Given the description of an element on the screen output the (x, y) to click on. 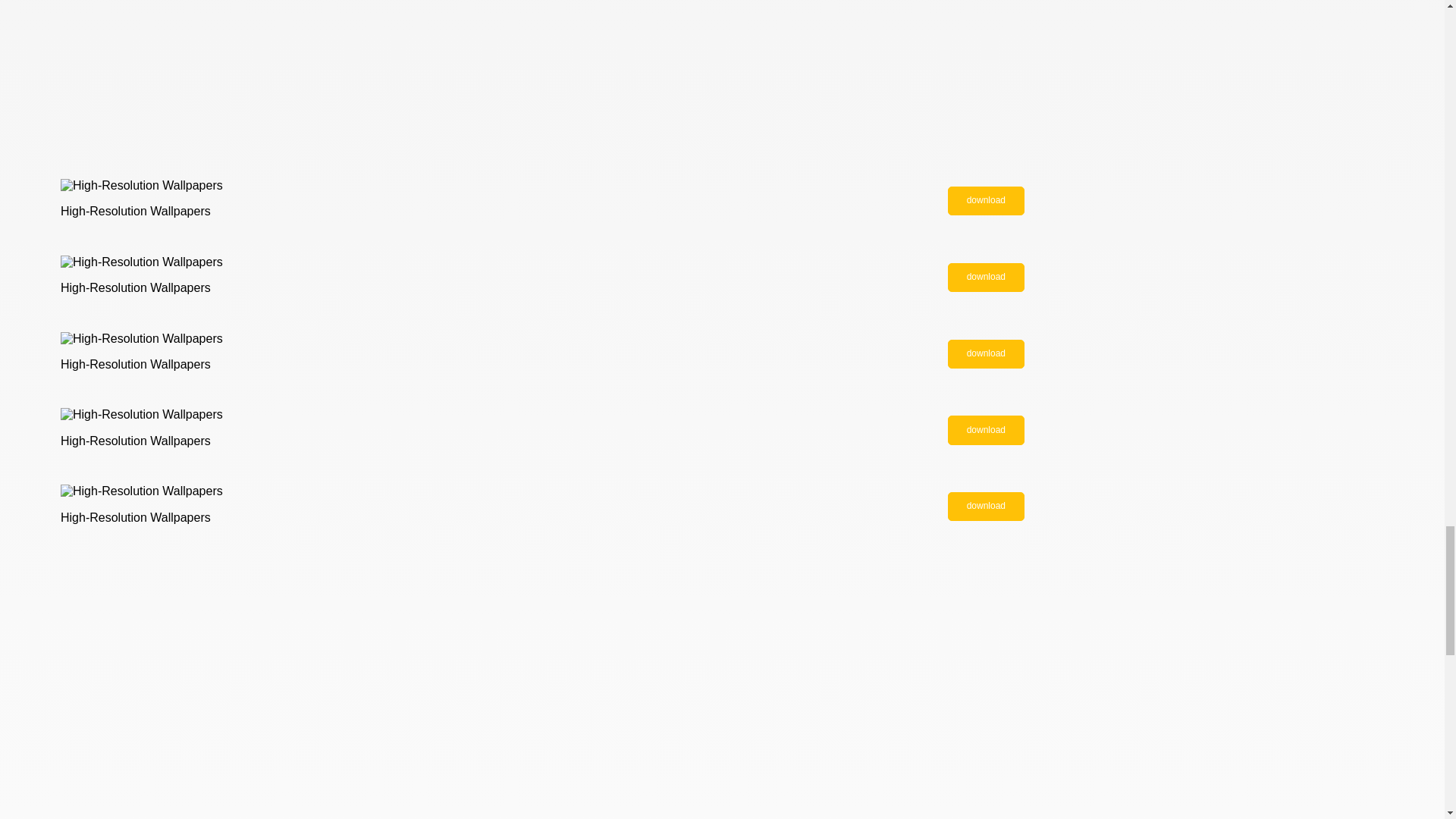
High-Resolution Wallpapers (986, 276)
download (986, 276)
High-Resolution Wallpapers (986, 506)
High-Resolution Wallpapers (986, 353)
High-Resolution Wallpapers (986, 429)
High-Resolution Wallpapers (986, 200)
download (986, 200)
download (986, 506)
download (986, 353)
download (986, 429)
